Given the description of an element on the screen output the (x, y) to click on. 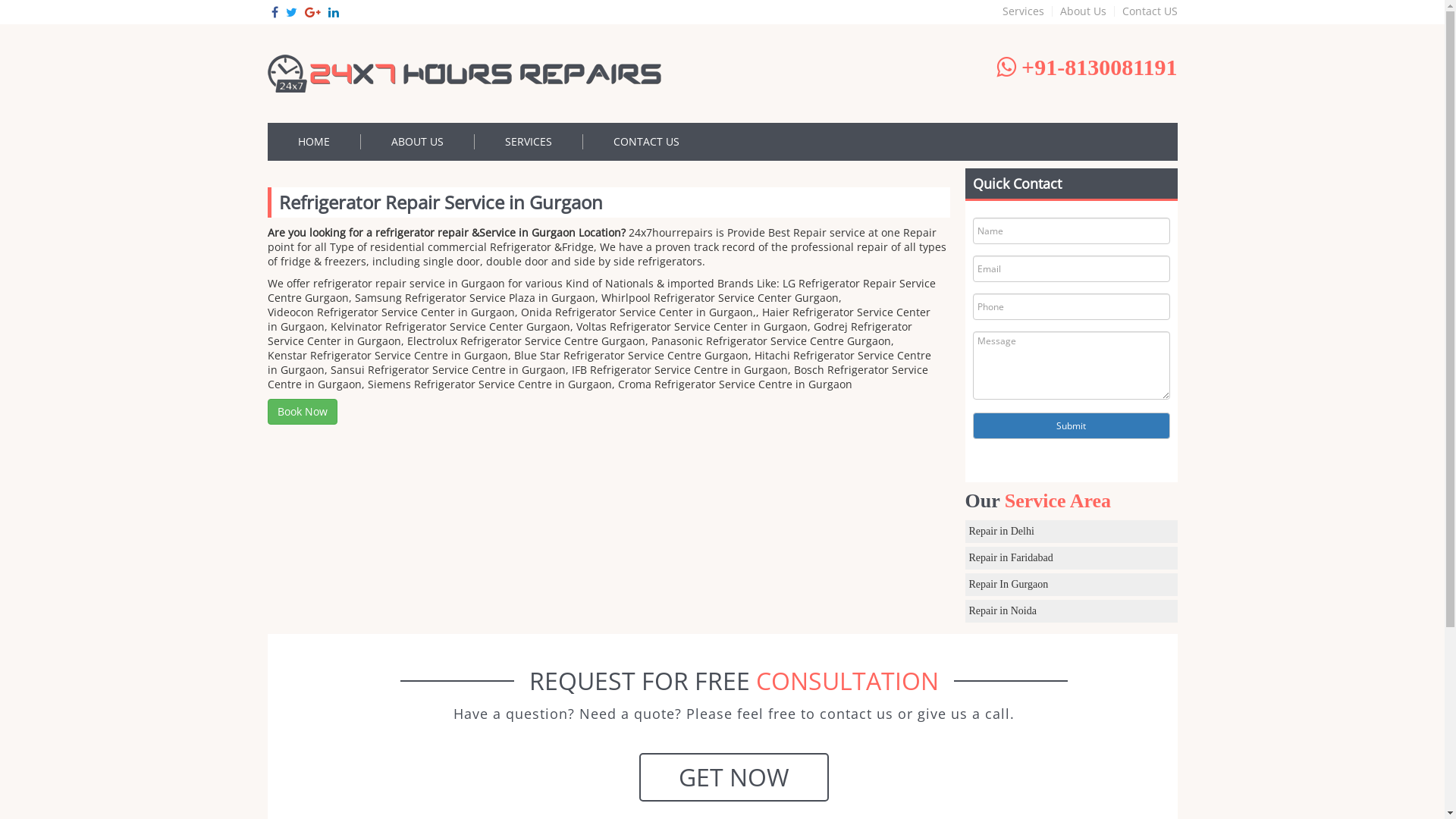
Services Element type: text (1023, 11)
Repair In Gurgaon Element type: text (1070, 584)
SERVICES Element type: text (528, 141)
Repair in Faridabad Element type: text (1070, 557)
ABOUT US Element type: text (417, 141)
Contact US Element type: text (1145, 11)
Repair in Delhi Element type: text (1070, 531)
Submit Element type: text (1070, 425)
CONTACT US Element type: text (645, 141)
HOME Element type: text (313, 141)
Repair in Noida Element type: text (1070, 610)
Book Now Element type: text (301, 411)
About Us Element type: text (1083, 11)
